Given the description of an element on the screen output the (x, y) to click on. 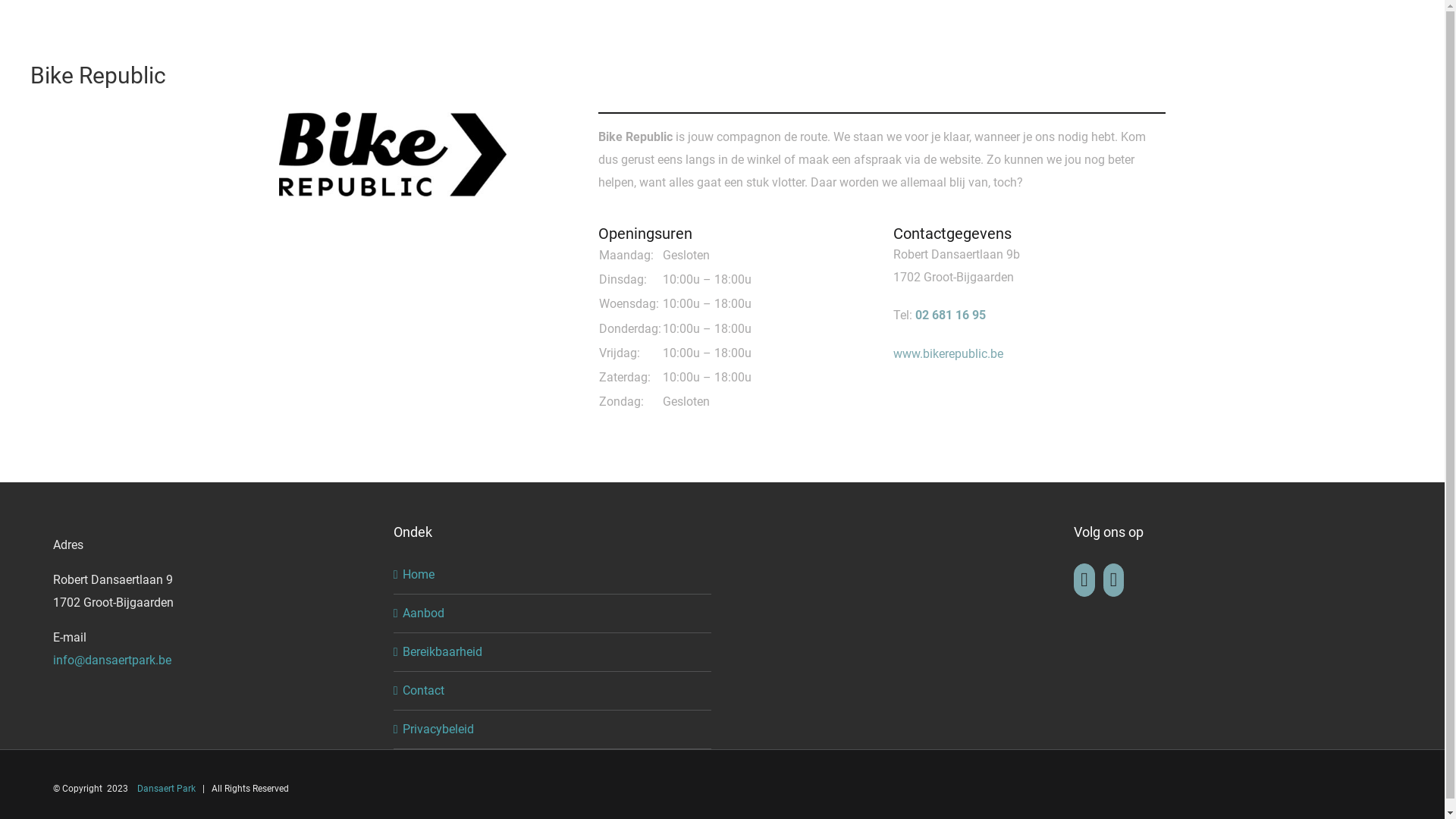
Home Element type: text (552, 574)
Bereikbaarheid Element type: text (552, 651)
Instagram Element type: hover (1113, 579)
info@dansaertpark.be Element type: text (112, 671)
Aanbod Element type: text (552, 613)
Contact Element type: text (552, 690)
02 681 16 95 Element type: text (950, 314)
www.bikerepublic.be Element type: text (948, 353)
BikeRepublicLogoBlackRGB Element type: hover (392, 154)
Facebook Element type: hover (1084, 579)
Dansaert Park Element type: text (166, 788)
Privacybeleid Element type: text (552, 729)
